Given the description of an element on the screen output the (x, y) to click on. 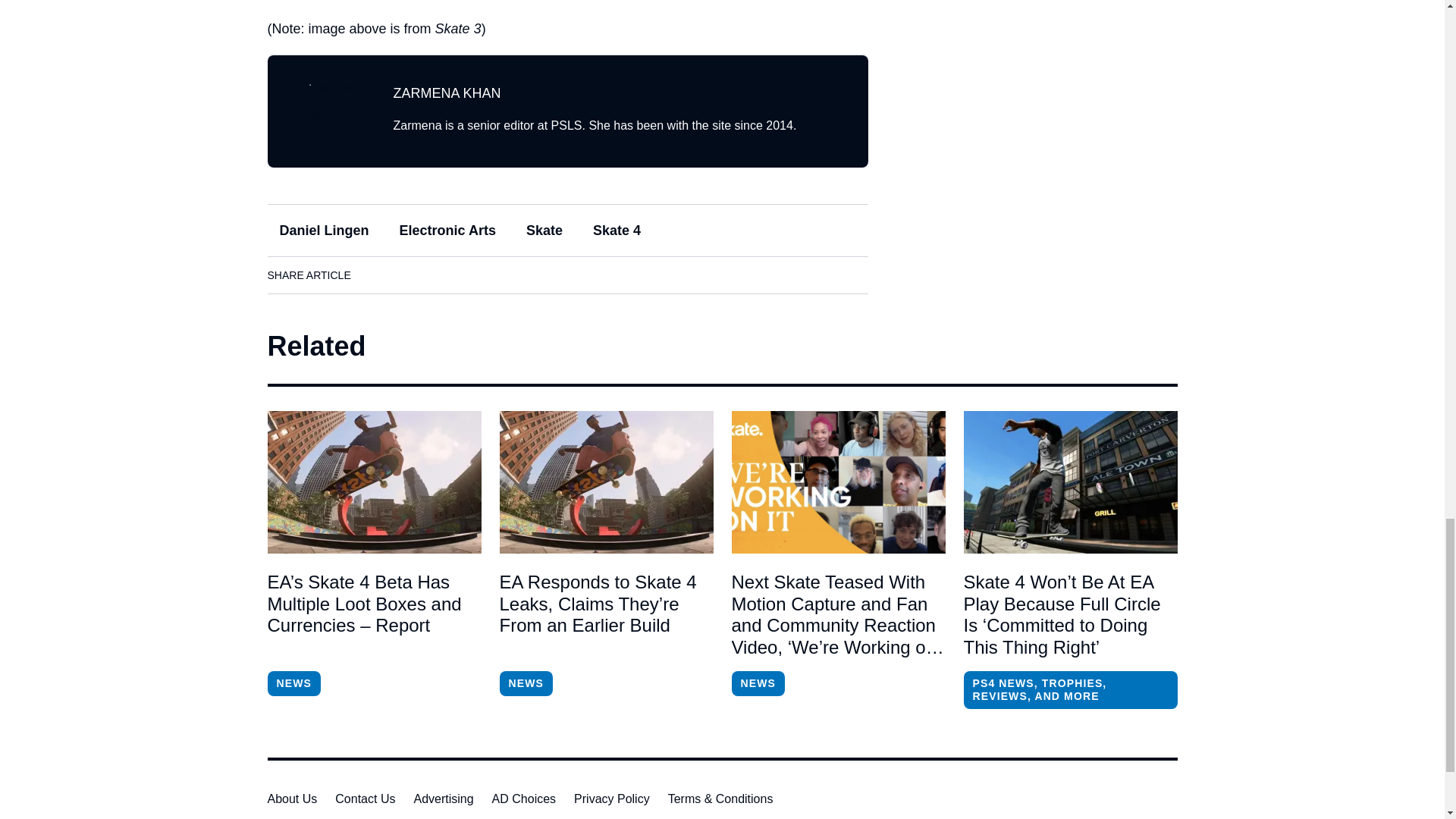
Skate (544, 230)
Daniel Lingen (323, 230)
Pinterest (505, 274)
Twitter (463, 274)
Skate 4 (616, 230)
LinkedIn (420, 274)
ZARMENA KHAN (446, 92)
Facebook (377, 274)
Electronic Arts (447, 230)
